Given the description of an element on the screen output the (x, y) to click on. 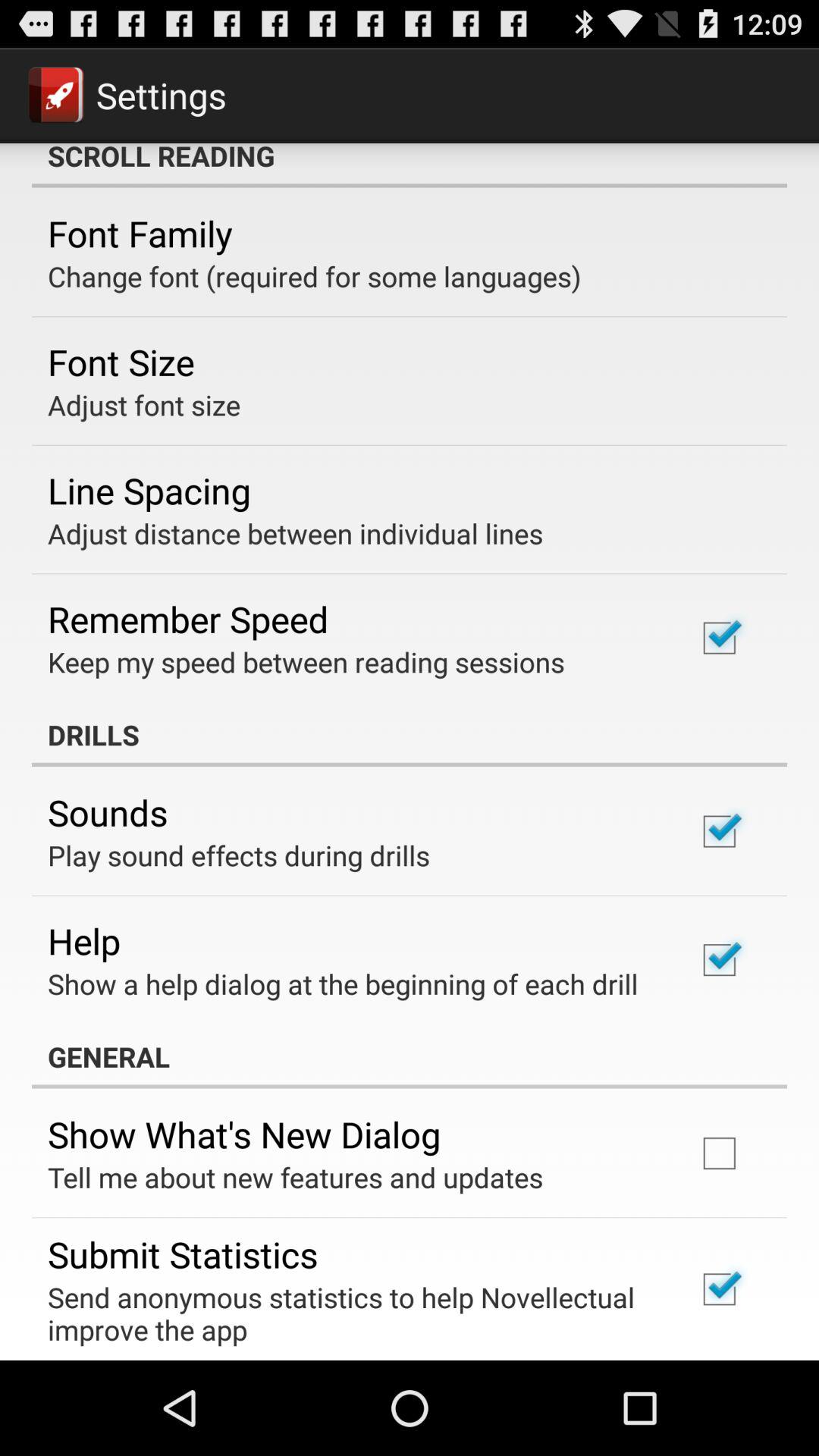
turn off the icon below line spacing (295, 533)
